Given the description of an element on the screen output the (x, y) to click on. 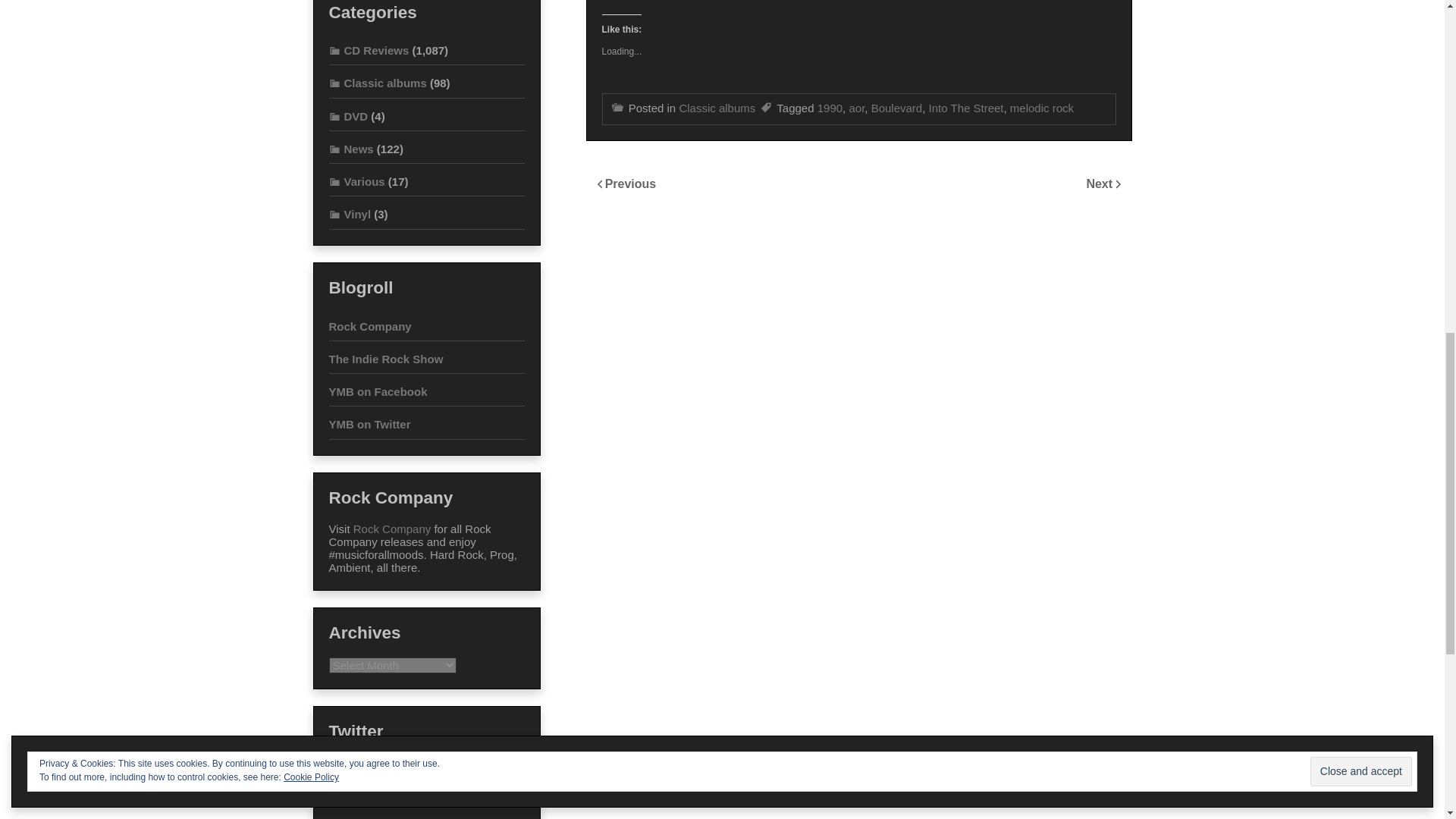
aor (856, 107)
The Indie Rock show podcast on Future Beautiful Radio (386, 358)
Next (1100, 183)
Classic albums (716, 107)
melodic rock (1042, 107)
Previous (630, 183)
Vinyl (350, 214)
CD Reviews (369, 50)
News (351, 148)
1990 (829, 107)
DVD (348, 115)
Boulevard (896, 107)
Classic albums (377, 82)
Into The Street (966, 107)
